Given the description of an element on the screen output the (x, y) to click on. 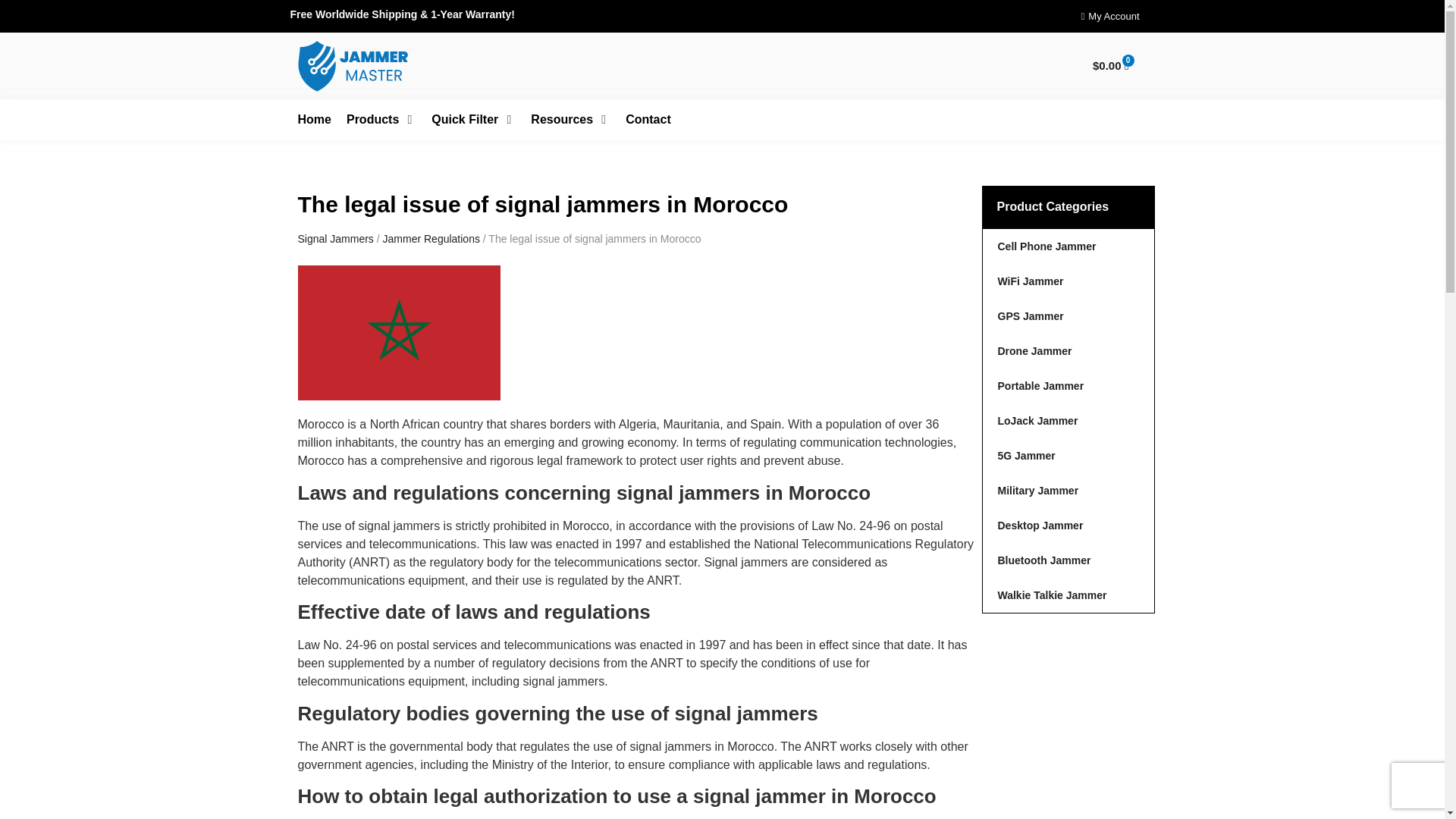
Home (313, 119)
Resources (561, 119)
Quick Filter (463, 119)
My Account (1109, 16)
Products (372, 119)
